Given the description of an element on the screen output the (x, y) to click on. 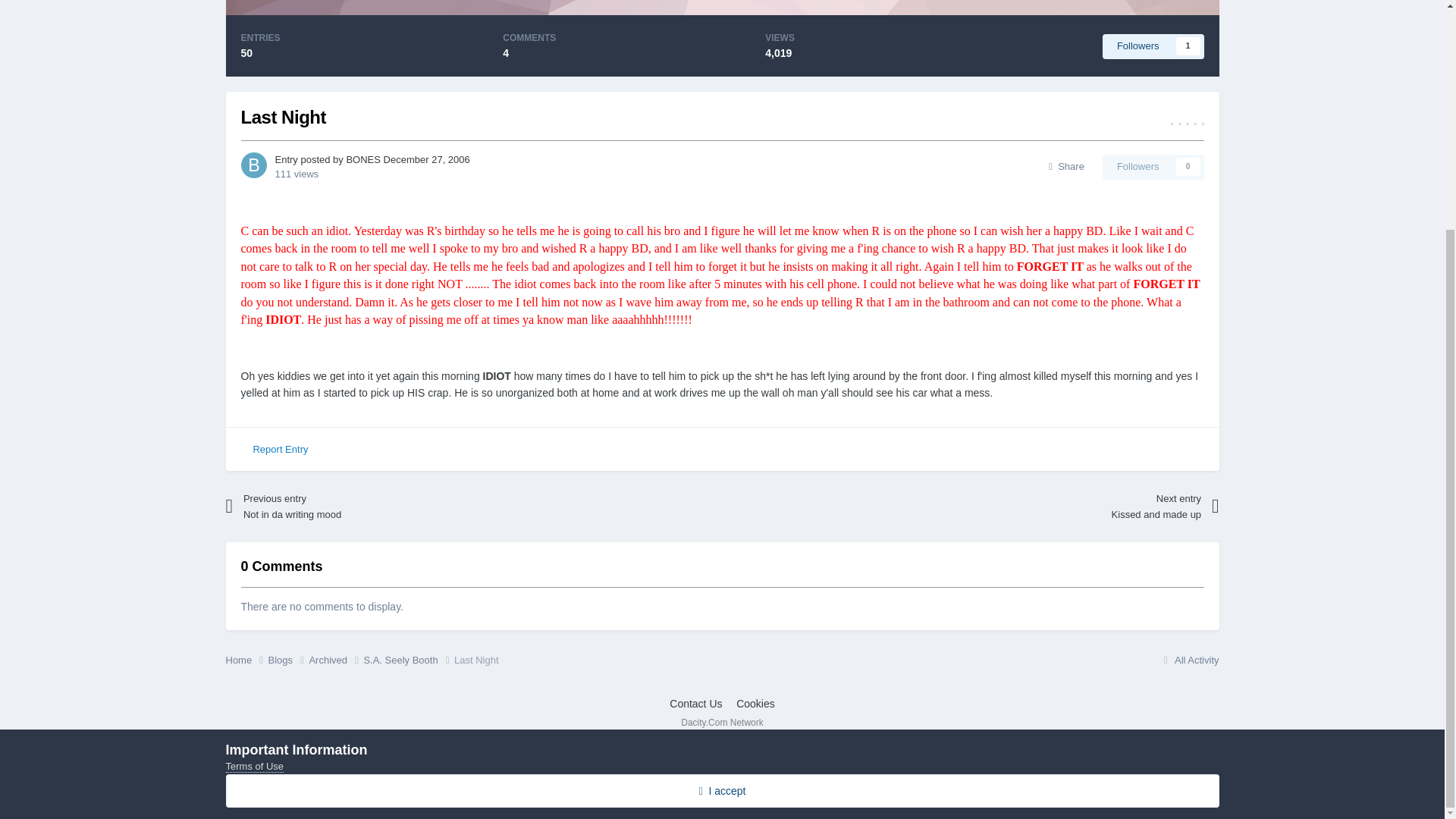
Report Entry (280, 449)
Go to BONES's profile (253, 165)
Go to BONES's profile (363, 159)
Sign in to follow this (1153, 46)
Sign in to follow this (1153, 166)
Previous entry (358, 506)
